Given the description of an element on the screen output the (x, y) to click on. 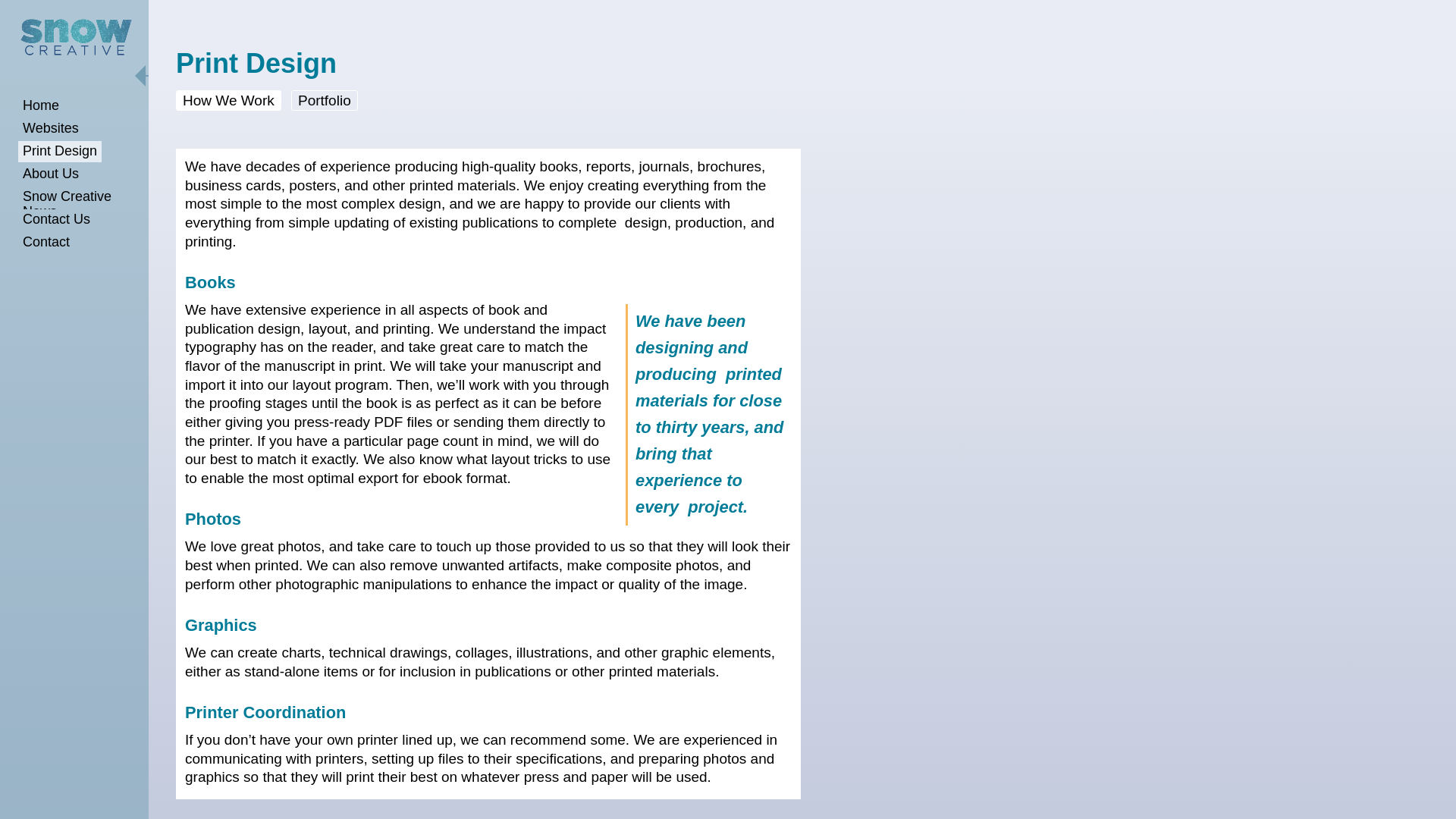
Contact (45, 242)
About Us (49, 174)
Websites (49, 128)
Home (40, 106)
Contact Us (55, 219)
Snow Creative News (82, 204)
Print Design (59, 151)
Portfolio (324, 100)
How We Work (228, 100)
